Given the description of an element on the screen output the (x, y) to click on. 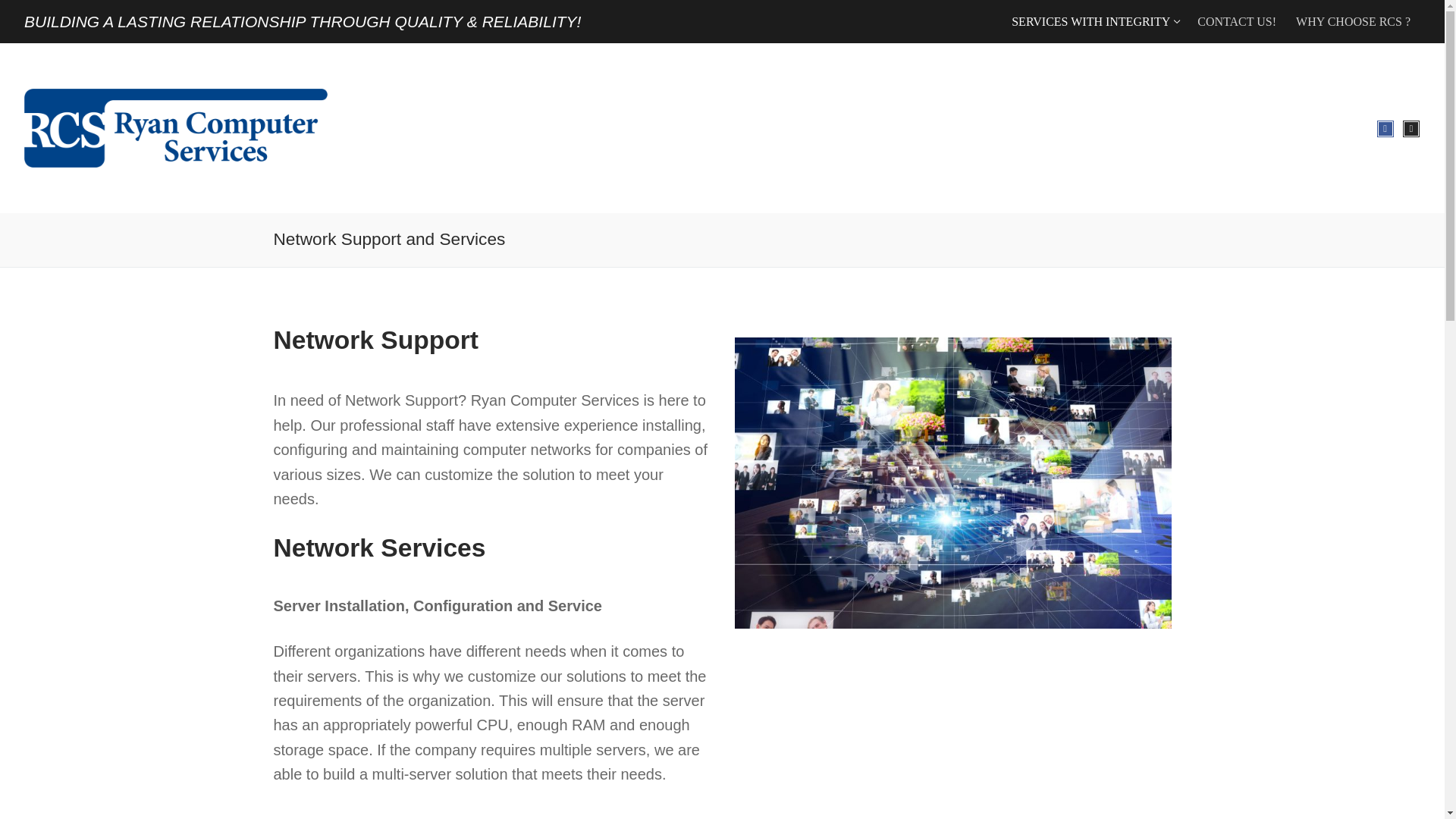
Facebook (1385, 128)
CONTACT US! (1094, 20)
Instagram (1236, 20)
WHY CHOOSE RCS ? (1410, 128)
